Given the description of an element on the screen output the (x, y) to click on. 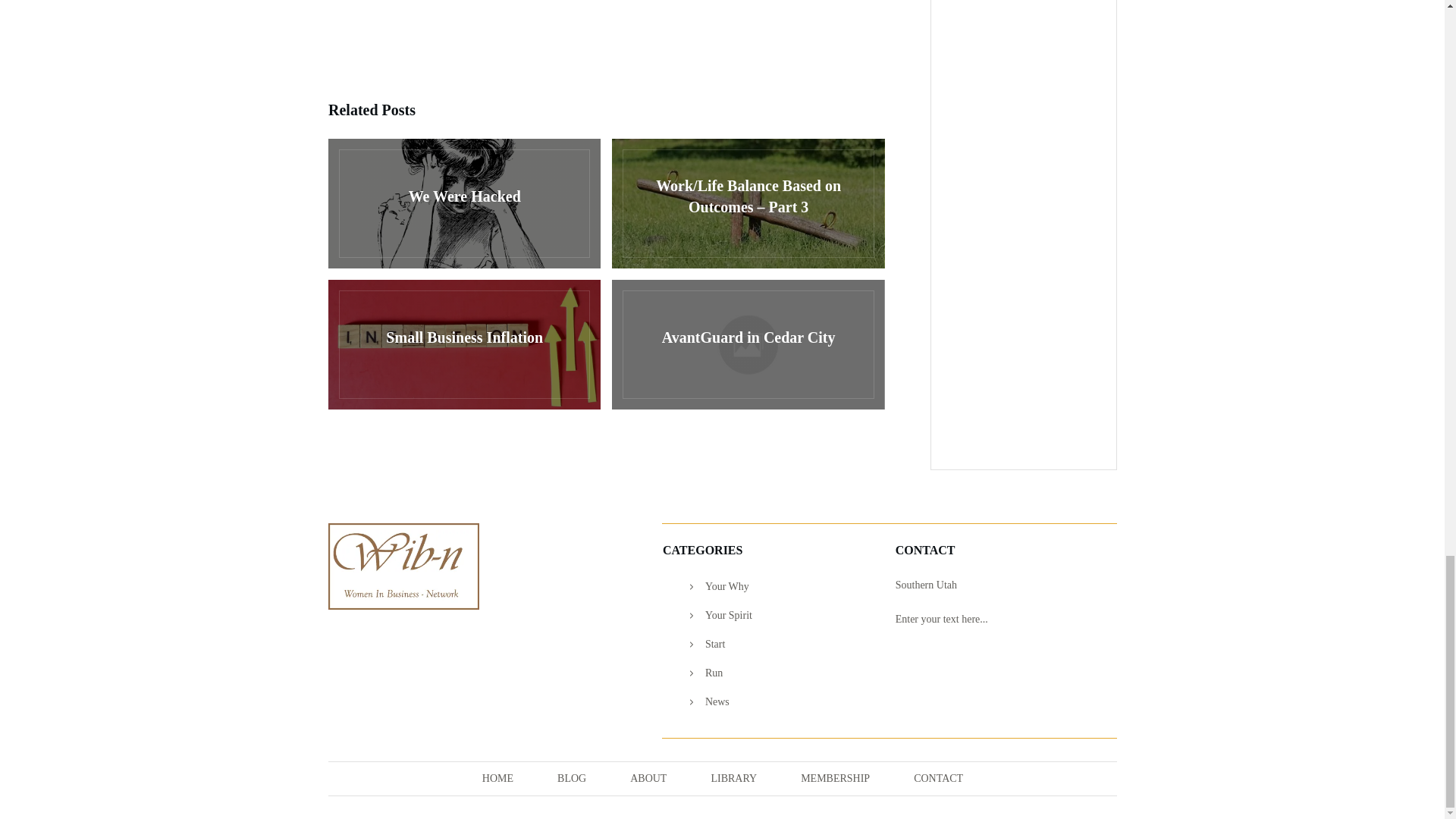
Run (713, 672)
AvantGuard in Cedar City (747, 344)
Your Why (726, 586)
Your Spirit (728, 615)
ABOUT (648, 778)
BLOG (571, 778)
CONTACT (938, 778)
Start (714, 644)
News (716, 702)
We Were Hacked (464, 203)
